Given the description of an element on the screen output the (x, y) to click on. 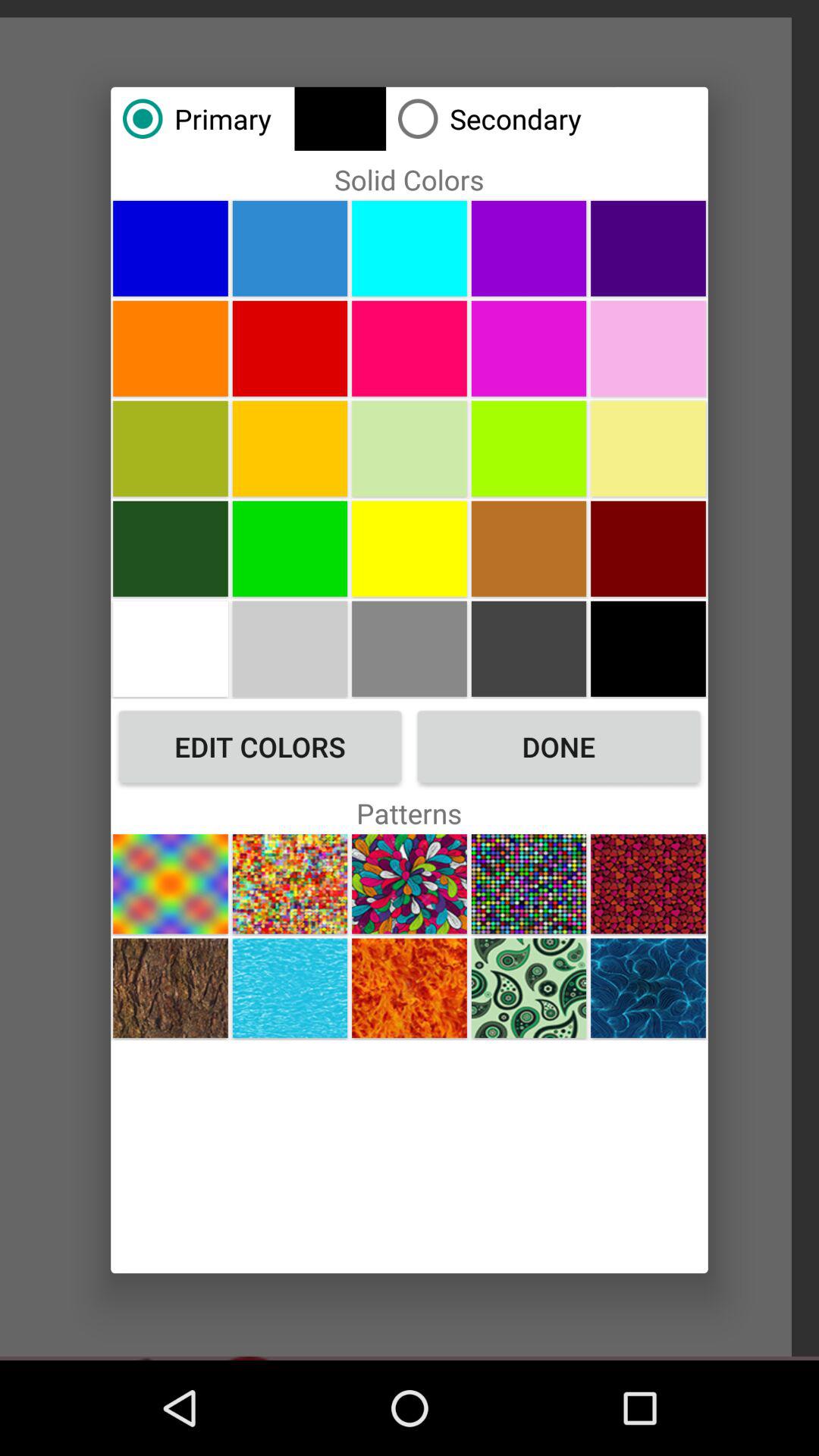
pick color dark purple (647, 248)
